Given the description of an element on the screen output the (x, y) to click on. 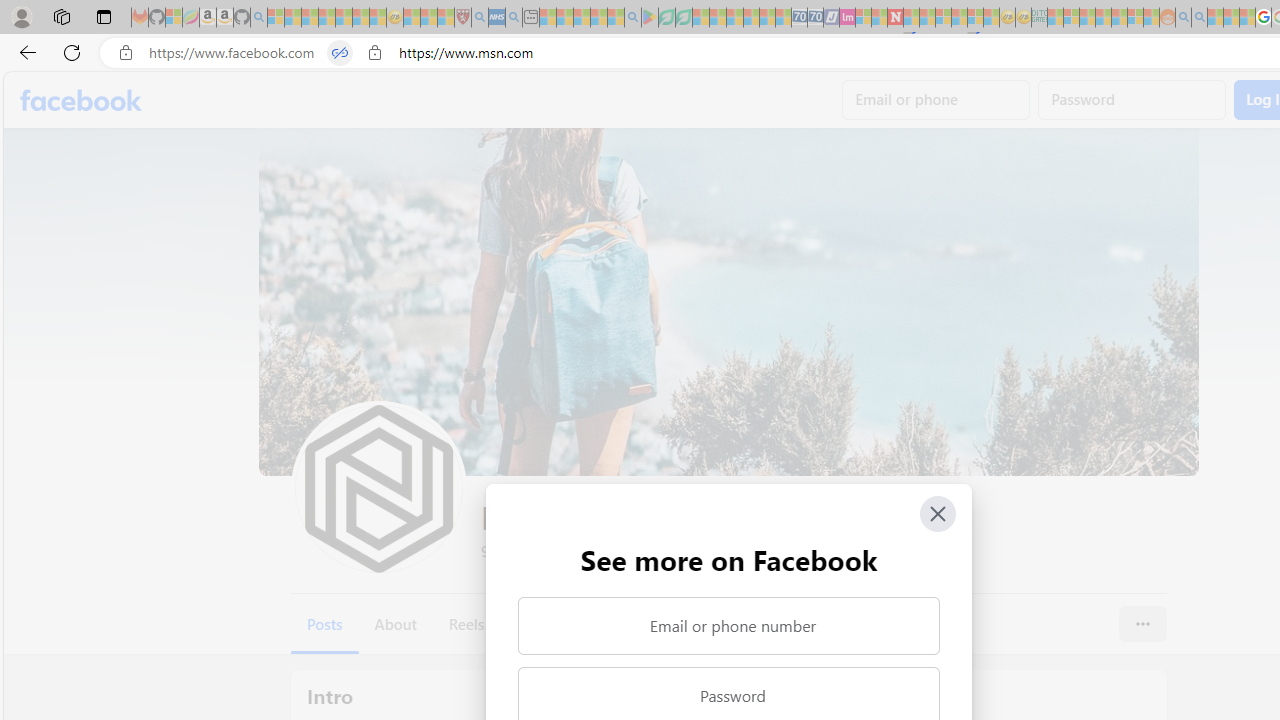
Facebook (81, 99)
Pets - MSN - Sleeping (598, 17)
DITOGAMES AG Imprint - Sleeping (1039, 17)
Local - MSN - Sleeping (445, 17)
